Given the description of an element on the screen output the (x, y) to click on. 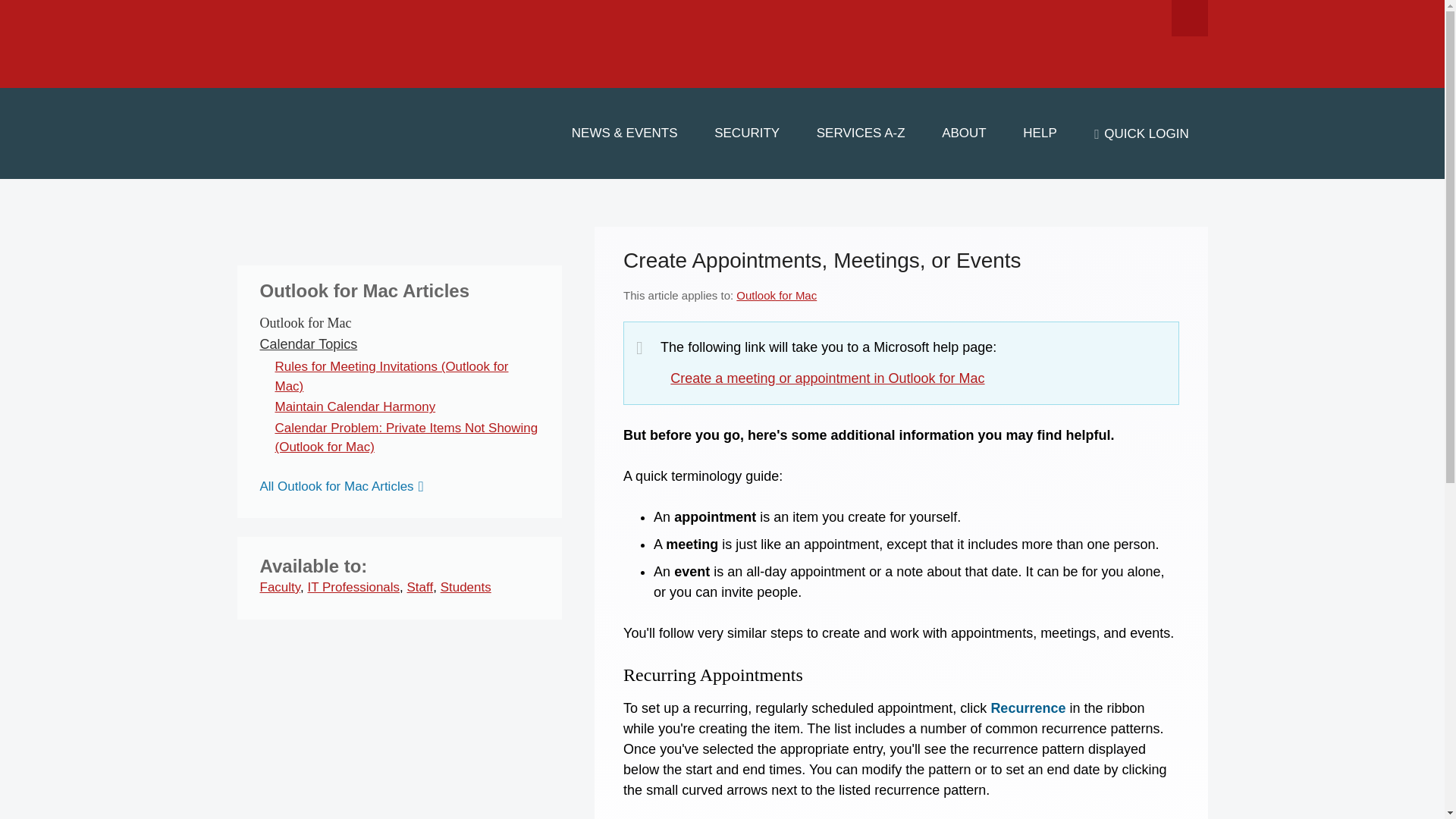
QUICK LOGIN (1141, 133)
Faculty (279, 586)
SECURITY (746, 133)
Create a meeting or appointment in Outlook for Mac (826, 378)
HELP (1040, 133)
SERVICES A-Z (860, 133)
Calendar Topics (307, 344)
Log In to IT Services (1141, 133)
Staff (420, 586)
ABOUT (963, 133)
